Given the description of an element on the screen output the (x, y) to click on. 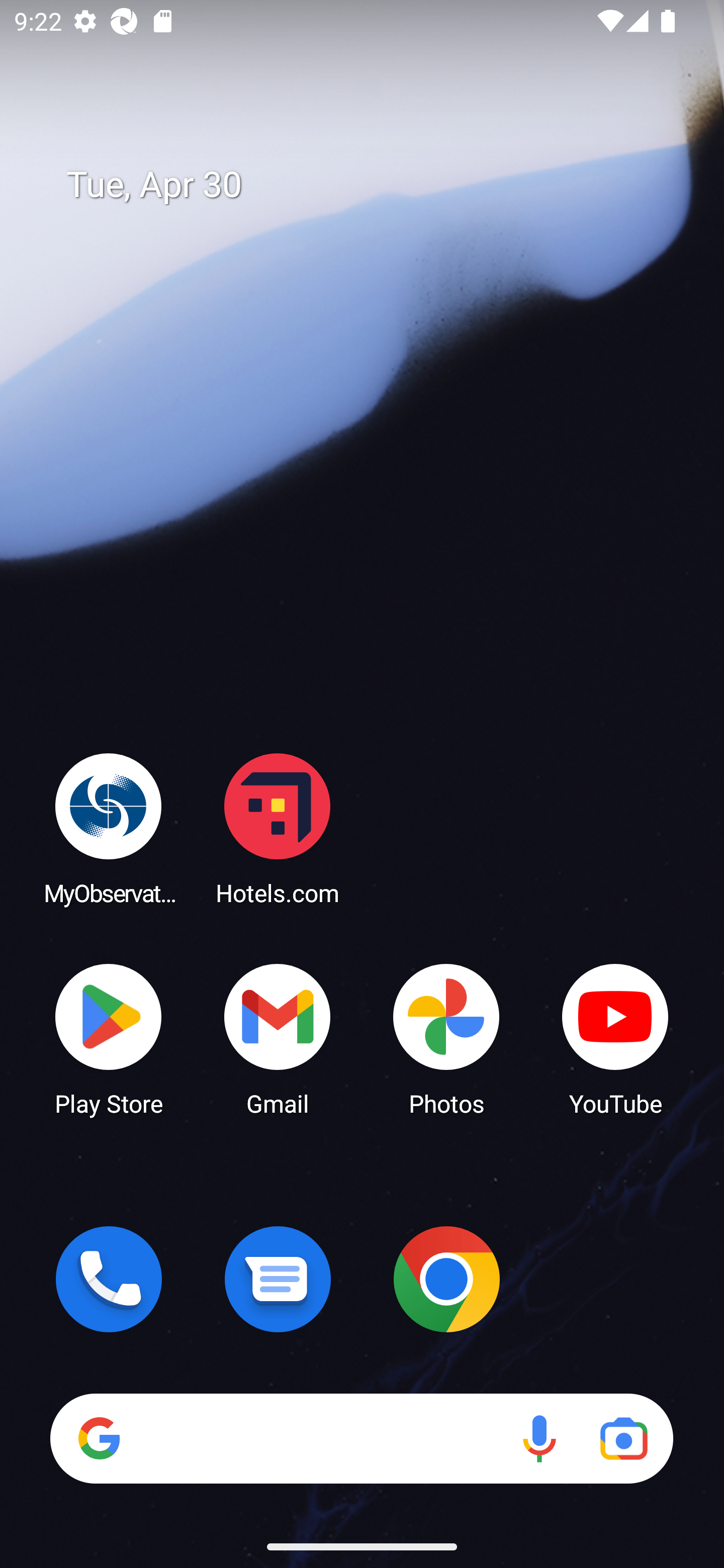
Tue, Apr 30 (375, 184)
MyObservatory (108, 828)
Hotels.com (277, 828)
Play Store (108, 1038)
Gmail (277, 1038)
Photos (445, 1038)
YouTube (615, 1038)
Phone (108, 1279)
Messages (277, 1279)
Chrome (446, 1279)
Voice search (539, 1438)
Google Lens (623, 1438)
